Given the description of an element on the screen output the (x, y) to click on. 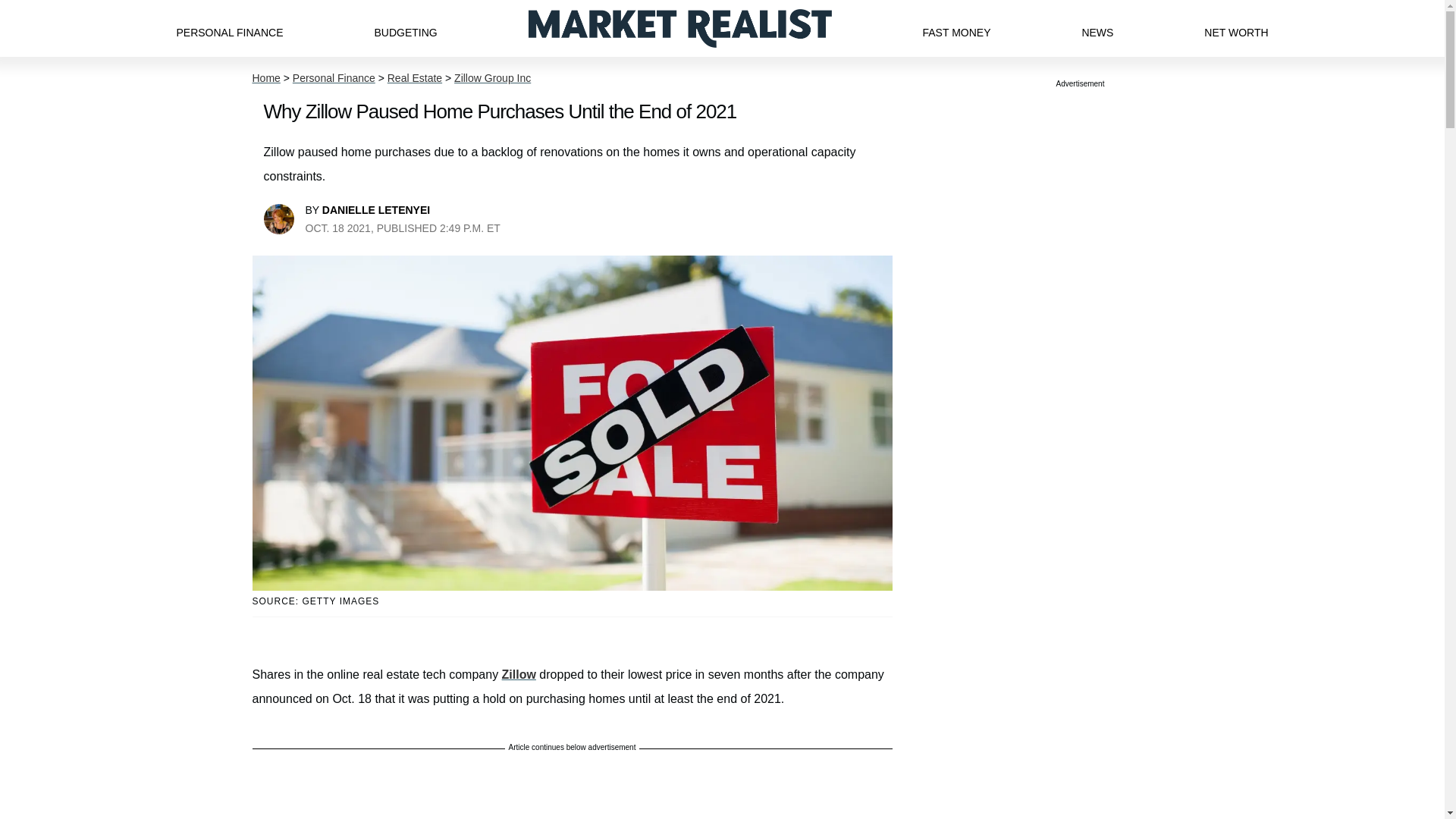
Personal Finance (333, 78)
Home (265, 78)
Zillow (518, 674)
DANIELLE LETENYEI (375, 209)
FAST MONEY (955, 27)
NEWS (1097, 27)
NET WORTH (1236, 27)
BUDGETING (405, 27)
PERSONAL FINANCE (229, 27)
Real Estate (414, 78)
Zillow Group Inc (492, 78)
